Given the description of an element on the screen output the (x, y) to click on. 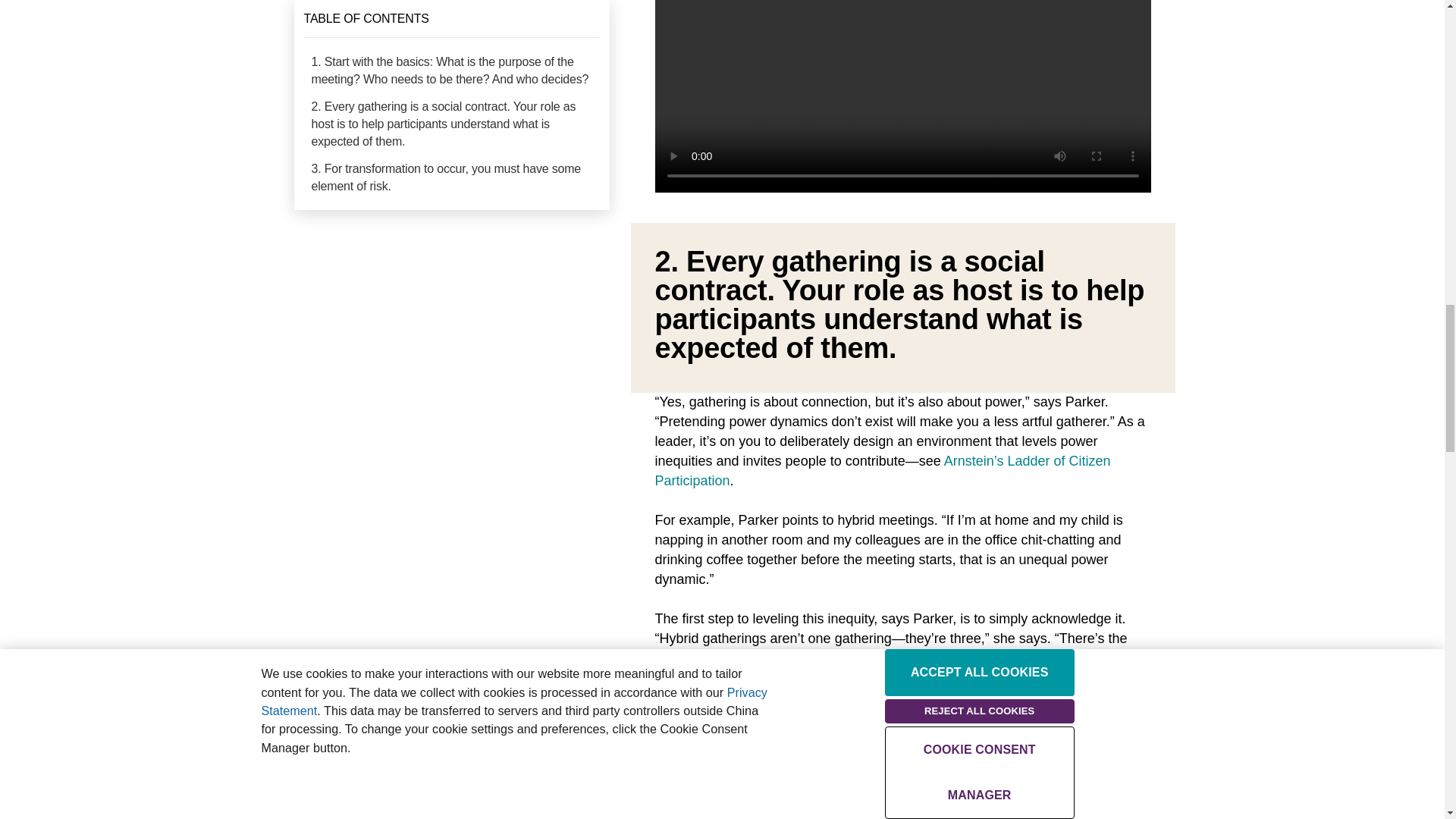
Participation (692, 480)
